Given the description of an element on the screen output the (x, y) to click on. 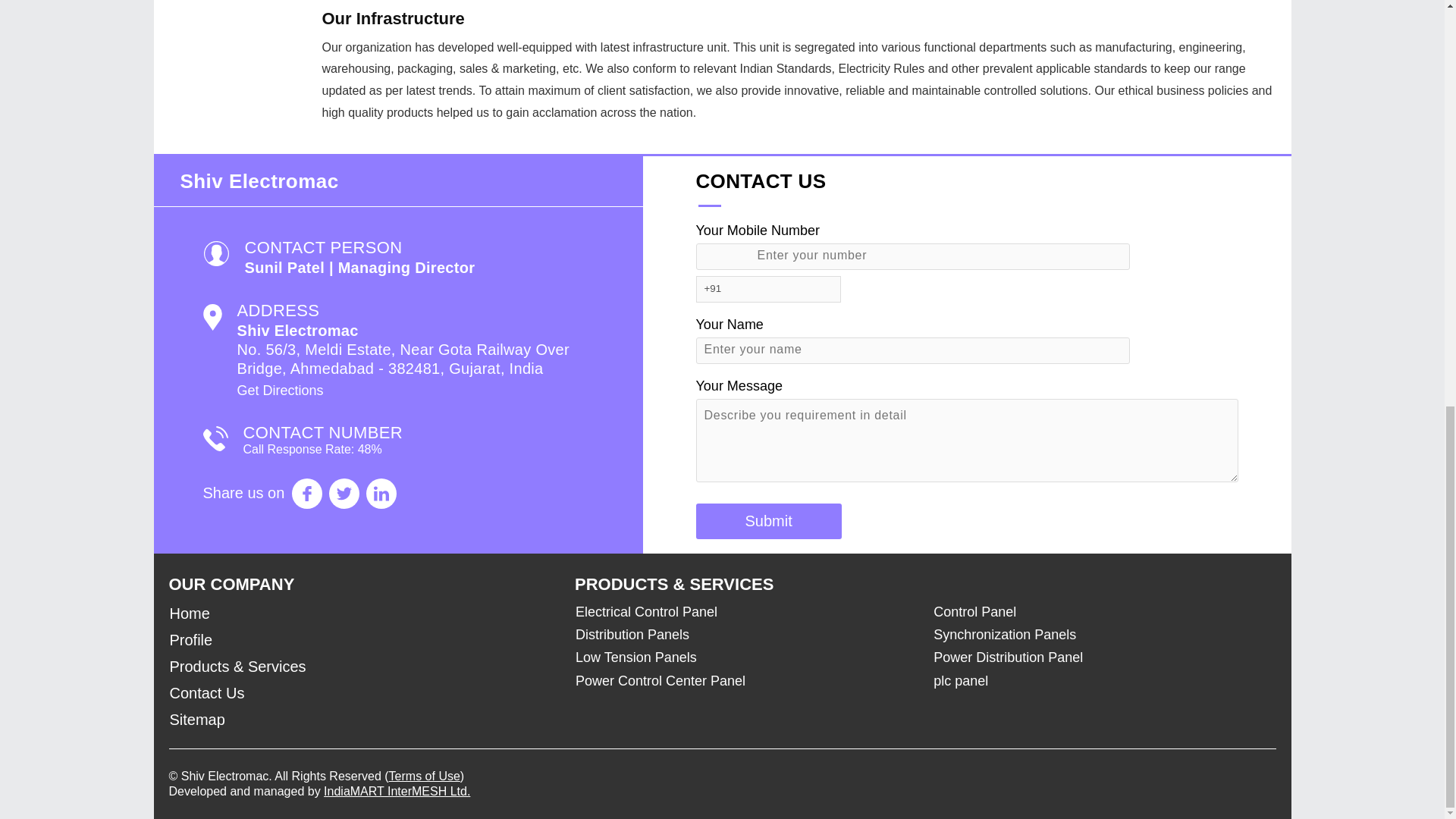
Home (363, 613)
Contact Us (363, 693)
Profile (363, 640)
Submit (768, 520)
Power Control Center Panel (738, 680)
Electrical Control Panel (738, 611)
Submit (768, 520)
Low Tension Panels (738, 657)
Sitemap (363, 719)
Distribution Panels (738, 634)
Get Directions (279, 390)
